Given the description of an element on the screen output the (x, y) to click on. 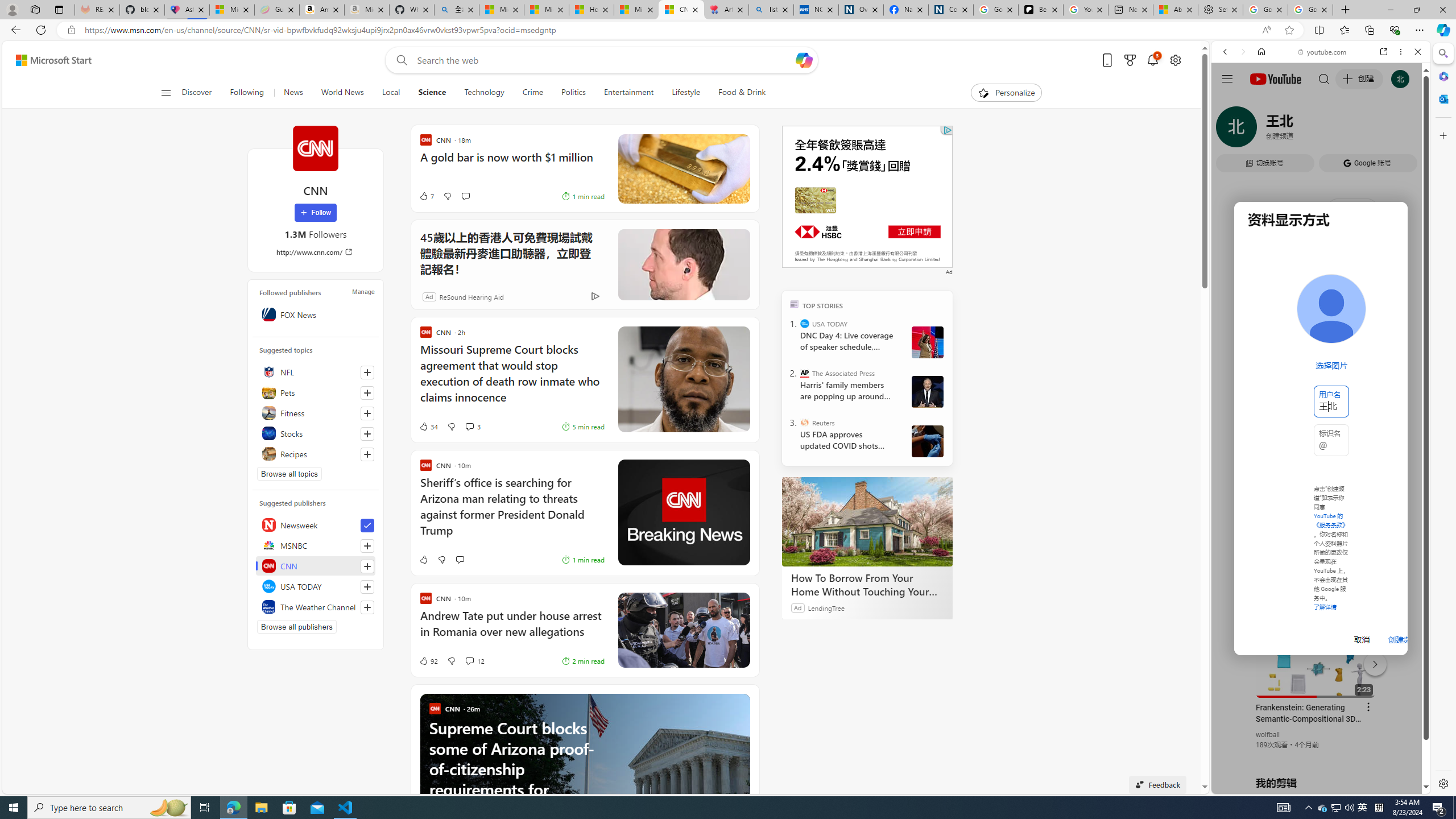
CNN (314, 148)
7 Like (425, 196)
Personalize (1006, 92)
Manage (362, 291)
youtube.com (1322, 51)
US[ju] (1249, 785)
TOP (794, 302)
